Given the description of an element on the screen output the (x, y) to click on. 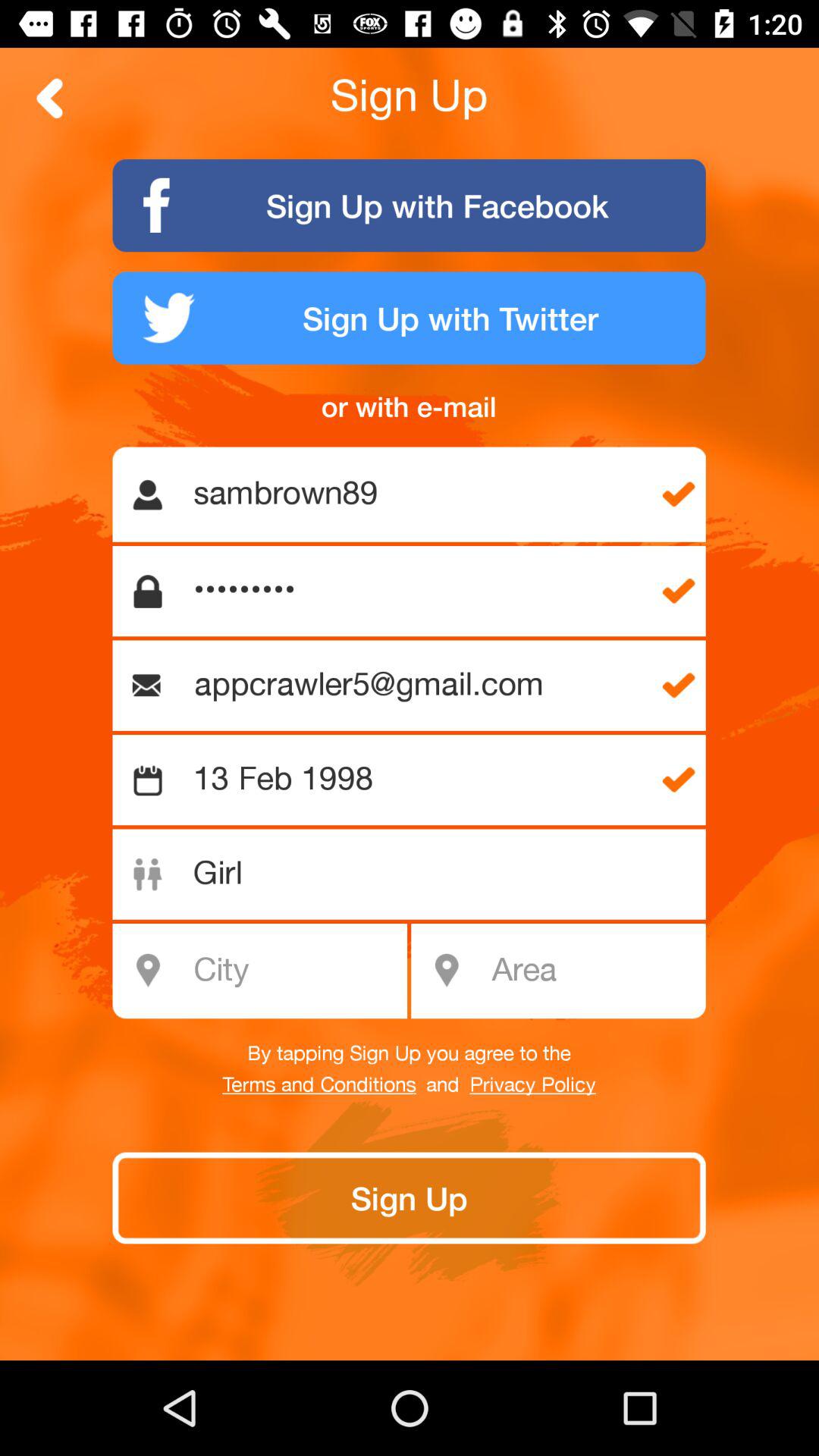
turn off the girl (417, 874)
